Given the description of an element on the screen output the (x, y) to click on. 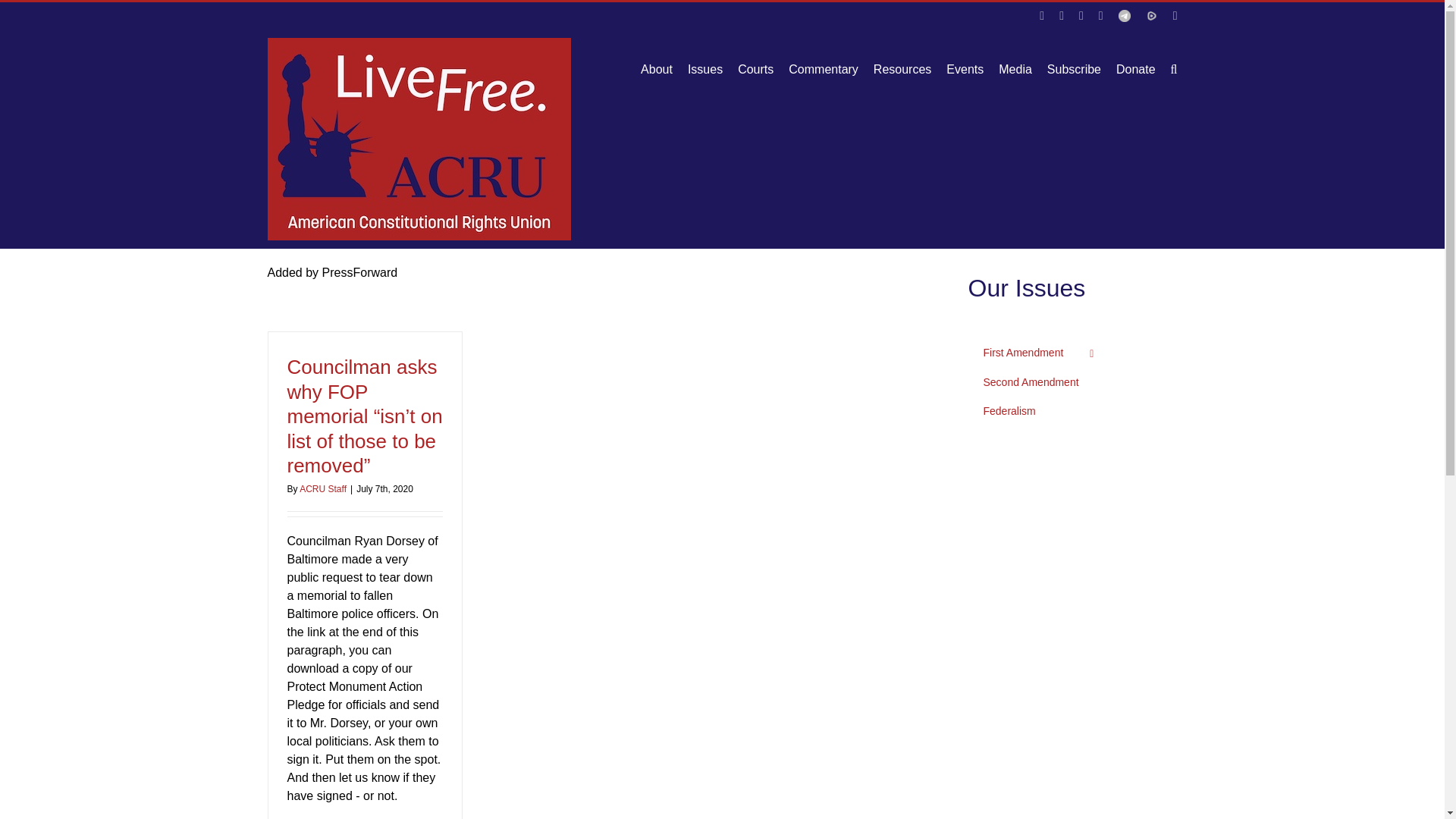
Issues (704, 69)
LinkedIn (1080, 15)
Instagram (1175, 15)
Facebook (1101, 15)
Telegram (1124, 15)
Commentary (824, 69)
Search (1173, 69)
YouTube (1041, 15)
X (1061, 15)
Posts by ACRU Staff (322, 489)
Rumble (1151, 15)
Courts (755, 69)
About (656, 69)
